Given the description of an element on the screen output the (x, y) to click on. 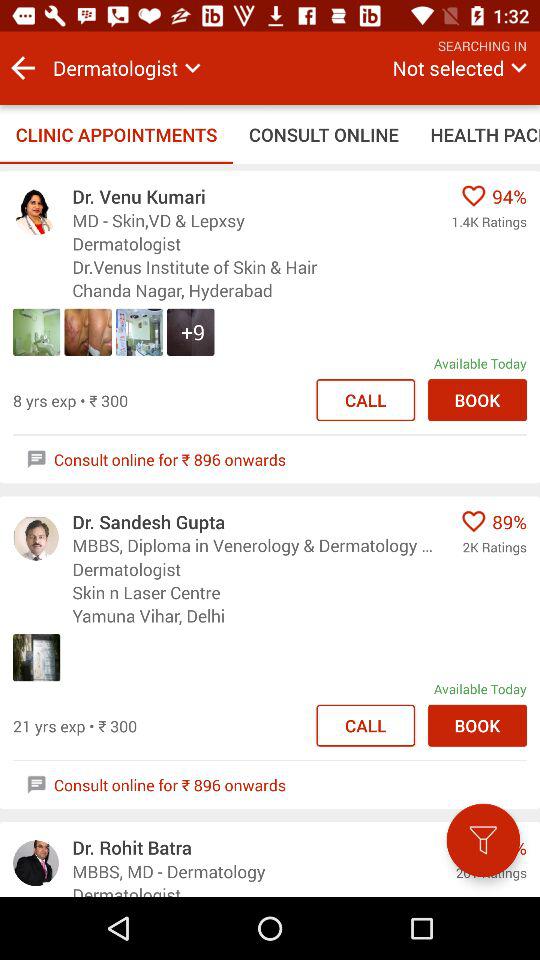
launch icon to the right of the dr. rohit batra (483, 840)
